Given the description of an element on the screen output the (x, y) to click on. 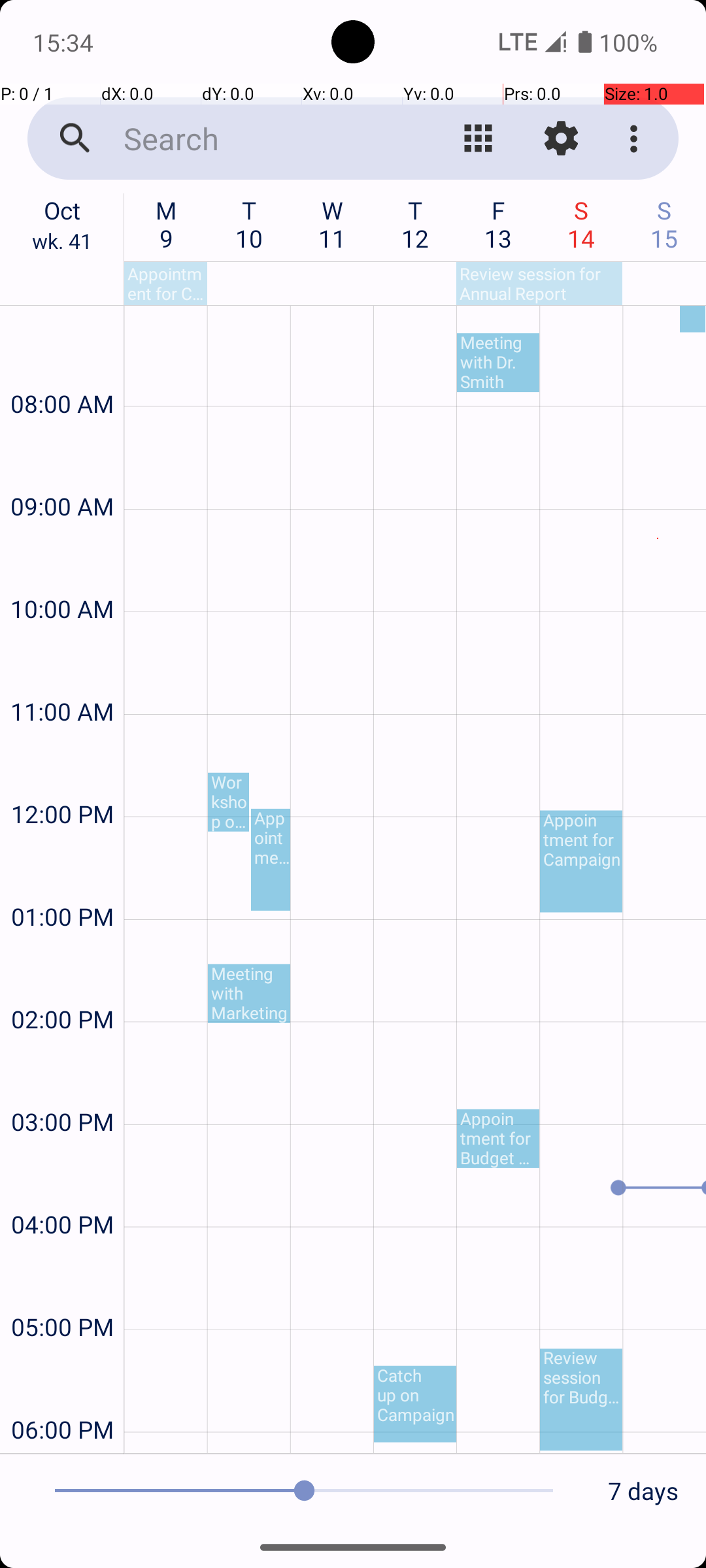
06:00 PM Element type: android.widget.TextView (62, 1394)
07:00 PM Element type: android.widget.TextView (62, 1449)
